Given the description of an element on the screen output the (x, y) to click on. 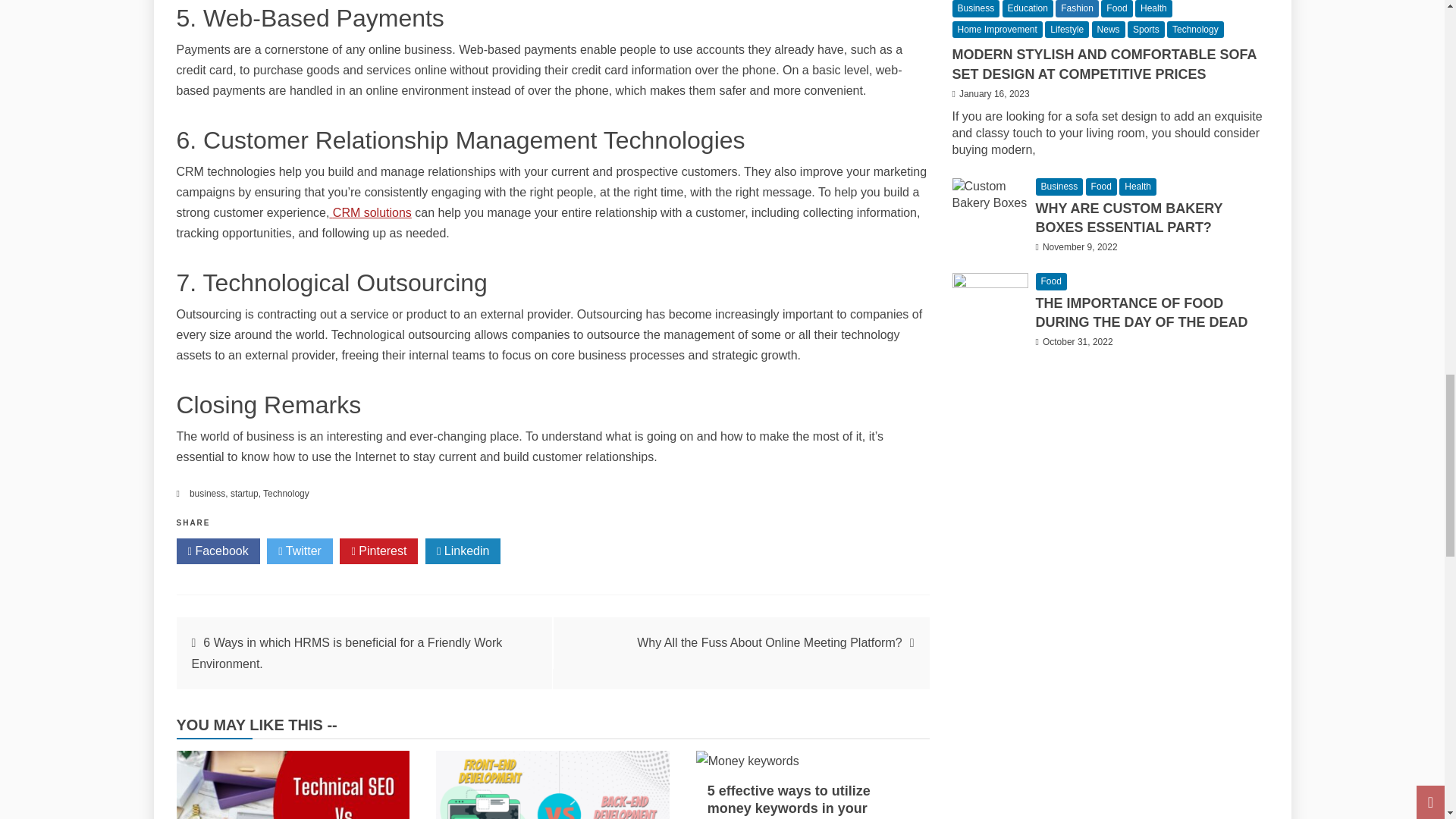
Pinterest (378, 551)
Facebook (217, 551)
startup (244, 493)
CRM solutions (369, 212)
Technology (285, 493)
Why All the Fuss About Online Meeting Platform? (769, 642)
Twitter (299, 551)
Linkedin (462, 551)
business (207, 493)
